Given the description of an element on the screen output the (x, y) to click on. 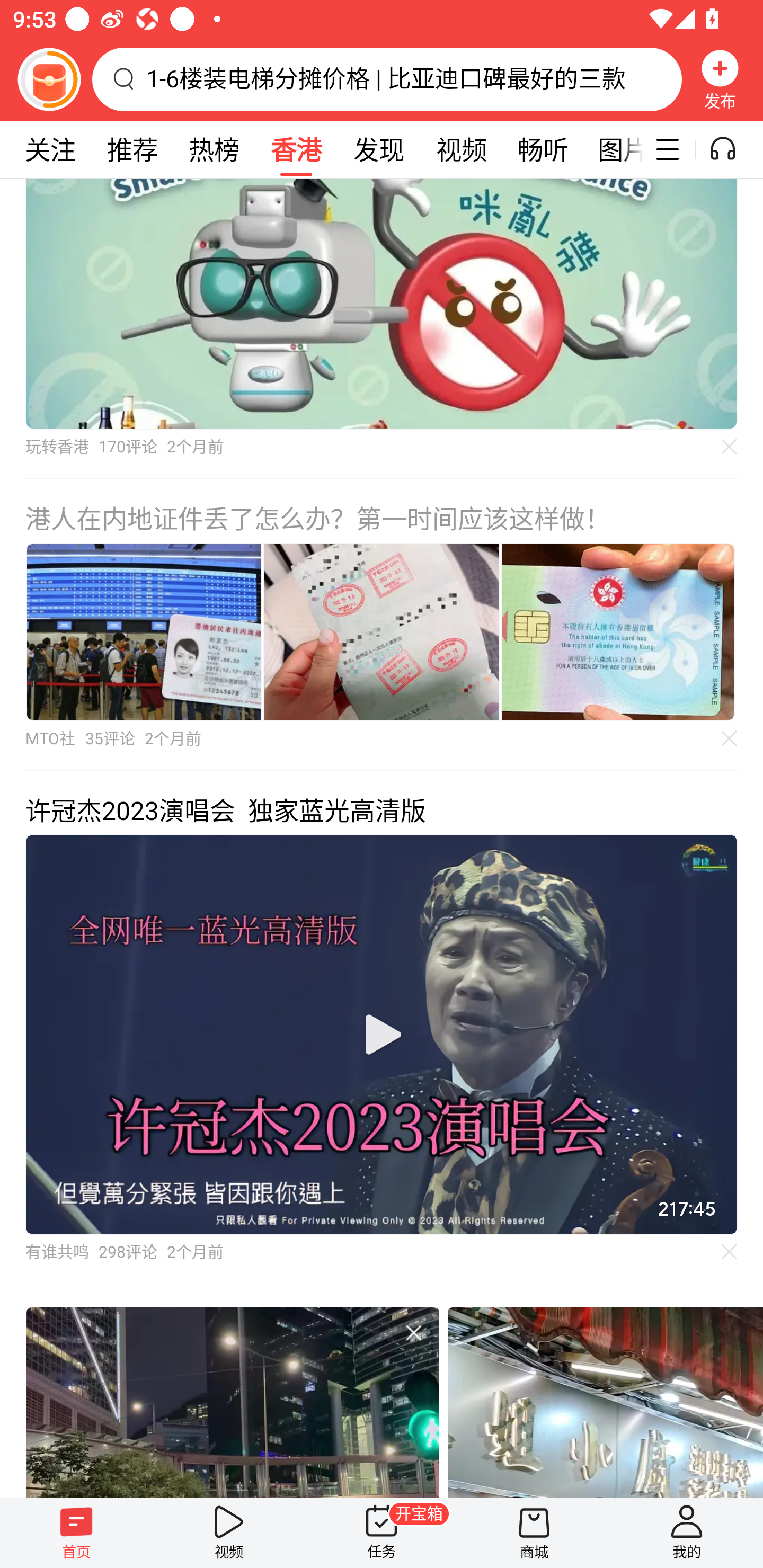
阅读赚金币 (48, 79)
发布 发布，按钮 (720, 78)
关注 (50, 149)
推荐 (132, 149)
热榜 (213, 149)
香港 (295, 149)
发现 (378, 149)
视频 (461, 149)
畅听 (542, 149)
听一听开关 (732, 149)
作者为  玩转香港  170评论  发布于2个月前   不感兴趣 (381, 328)
不感兴趣 (729, 446)
内容图片 (143, 631)
内容图片 (381, 631)
内容图片 (617, 631)
不感兴趣 (729, 738)
播放视频 视频播放器，双击屏幕打开播放控制 (381, 1034)
播放视频 (381, 1033)
不感兴趣 (729, 1251)
有没有发现，香港人看起来普遍比实际年龄要小？#香港人不显老 #香港人, 49万次播放 不感兴趣 (232, 1401)
香港大排档 #香港大排档 #香港美食, 10万次播放 (604, 1401)
不感兴趣 (413, 1332)
首页 (76, 1532)
视频 (228, 1532)
任务 开宝箱 (381, 1532)
商城 (533, 1532)
我的 (686, 1532)
